Given the description of an element on the screen output the (x, y) to click on. 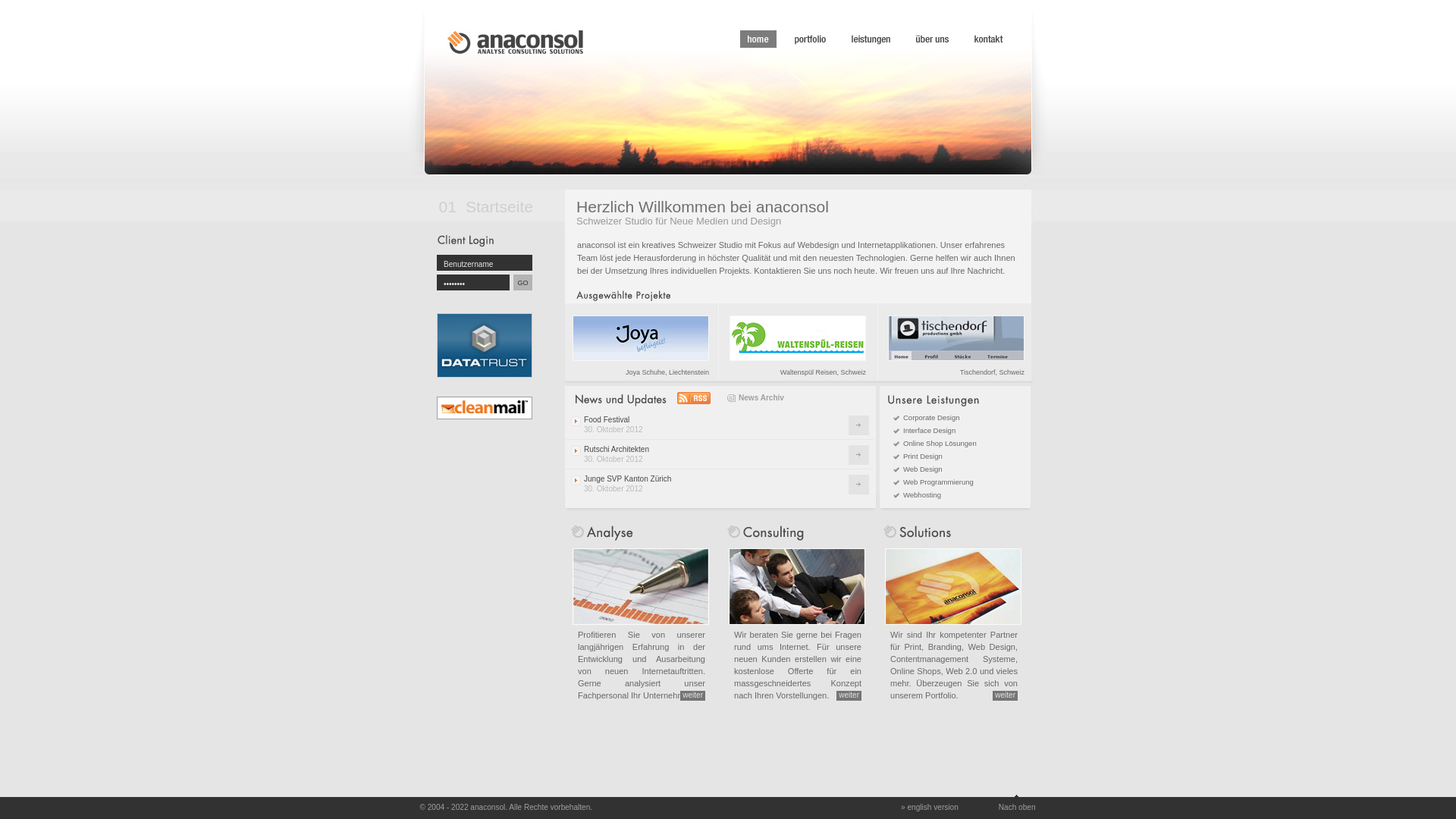
Springe zur Startseite Element type: hover (515, 42)
Corporate Design Element type: text (926, 417)
Web Programmierung Element type: text (933, 481)
Print Design Element type: text (917, 455)
Home Element type: text (758, 38)
Nach oben Element type: text (1016, 802)
Tischendorf, Schweiz Element type: text (954, 341)
Kontakt Element type: text (988, 38)
Rutschi Architekten
30. Oktober 2012 Element type: text (719, 453)
Portfolio Element type: text (810, 38)
Joya Schuhe, Liechtenstein Element type: text (641, 341)
Leistungen Element type: text (870, 38)
GO Element type: text (522, 282)
Interface Design Element type: text (924, 430)
Gehe zum RSS-Feed Element type: hover (693, 398)
Food Festival
30. Oktober 2012 Element type: text (719, 424)
News Archiv Element type: text (754, 397)
Webhosting Element type: text (917, 494)
Web Design Element type: text (917, 468)
